Given the description of an element on the screen output the (x, y) to click on. 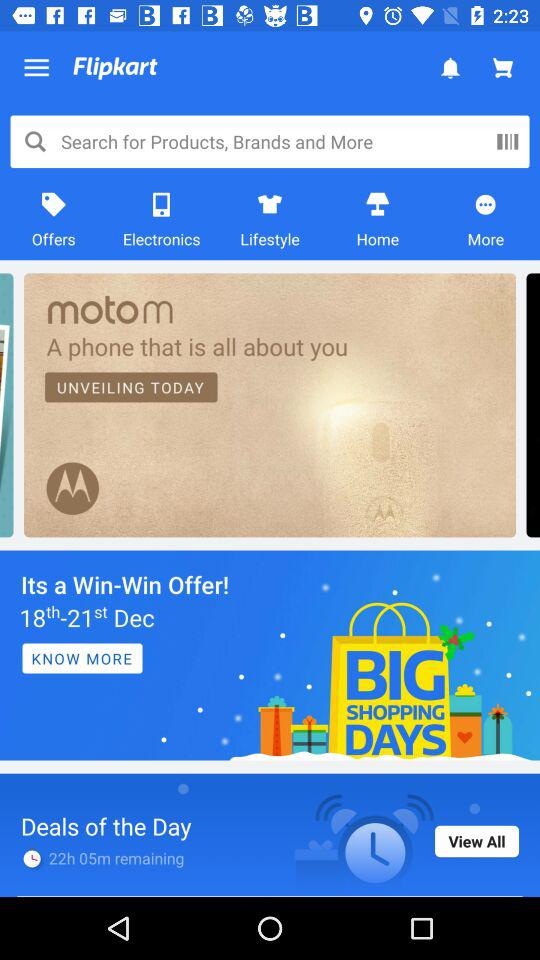
more (507, 141)
